Given the description of an element on the screen output the (x, y) to click on. 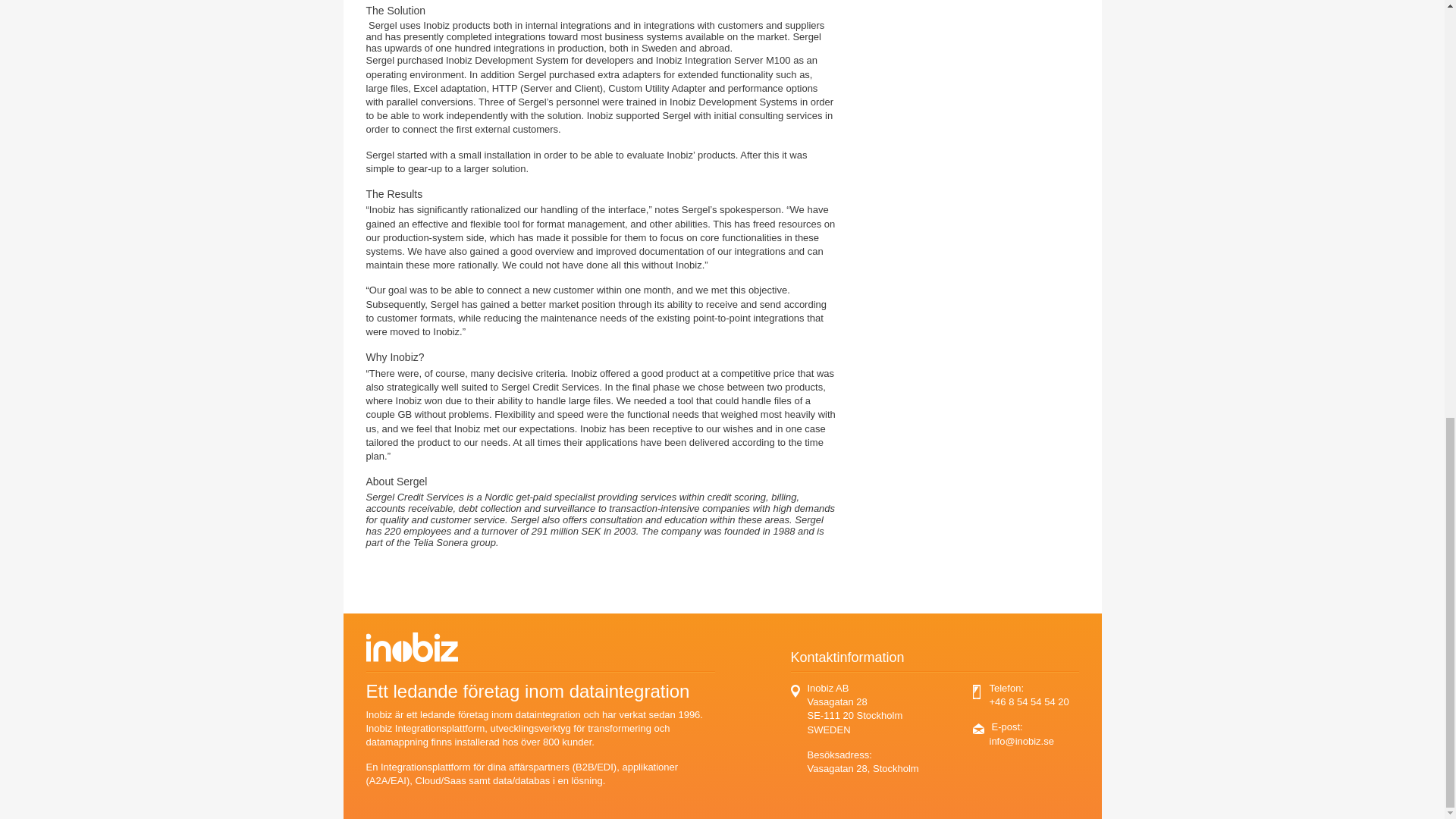
SSAB Inobiz kund (366, 579)
